Given the description of an element on the screen output the (x, y) to click on. 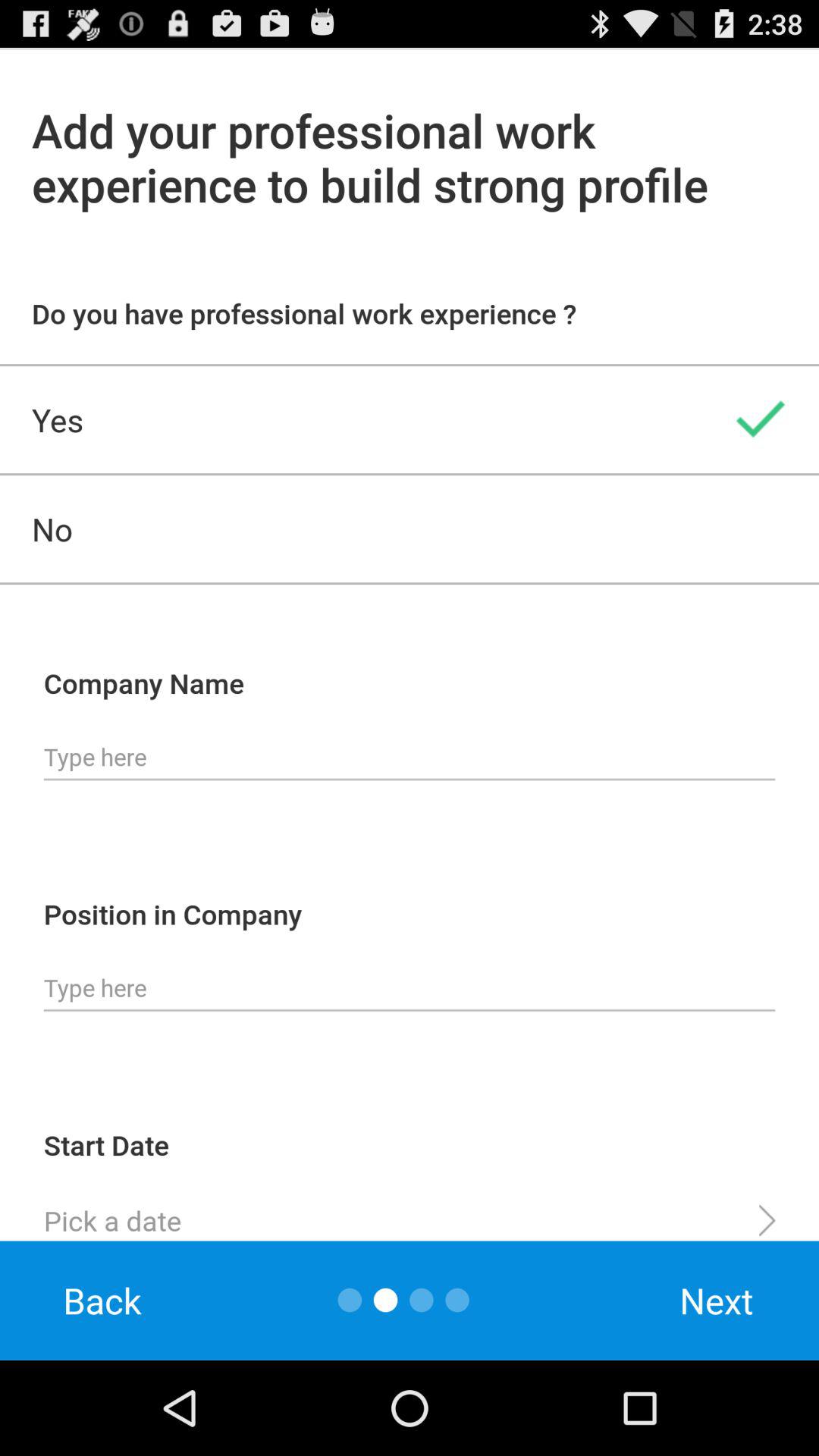
fill in the company name (409, 757)
